Given the description of an element on the screen output the (x, y) to click on. 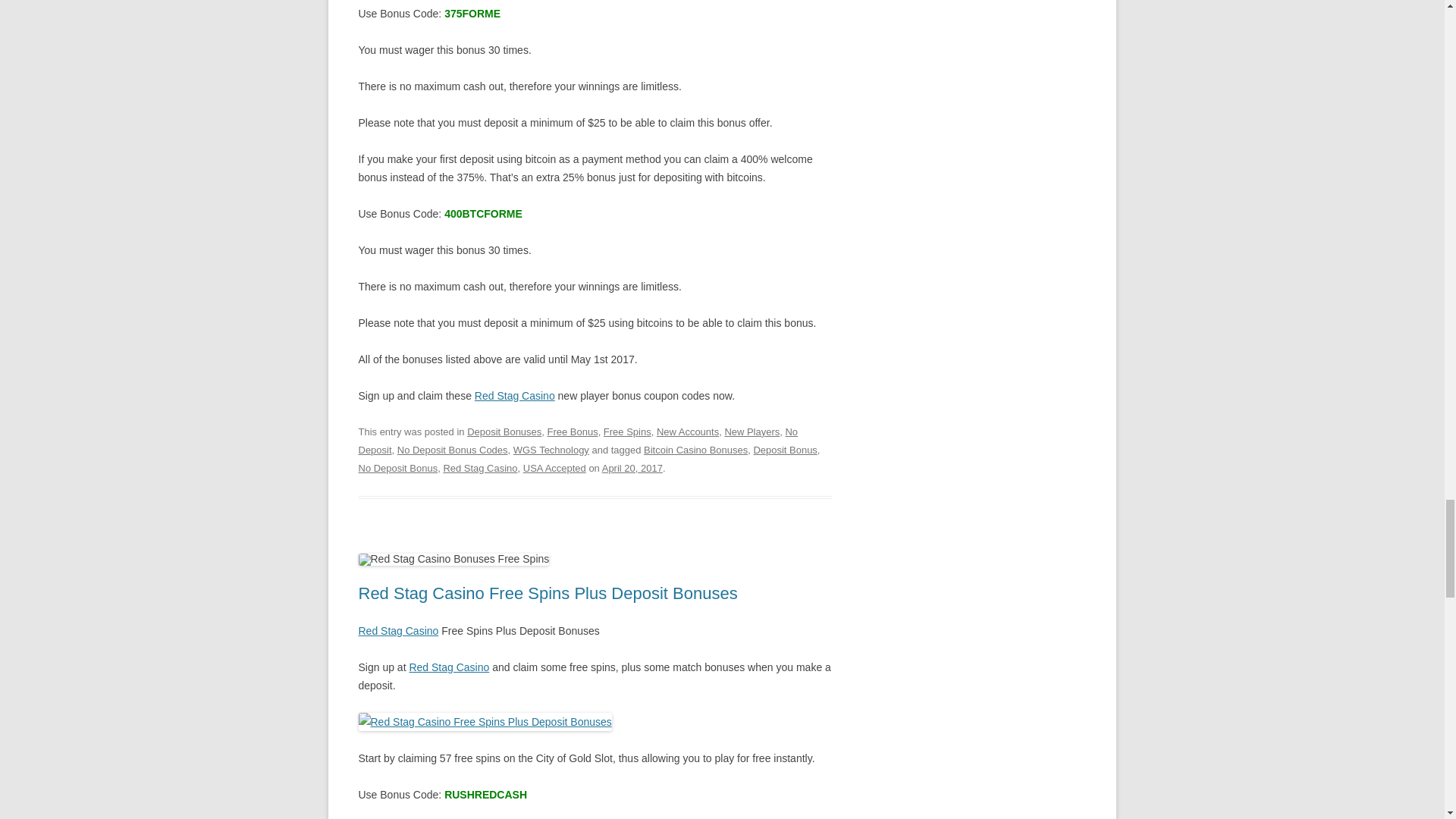
2:38 pm (632, 468)
